Given the description of an element on the screen output the (x, y) to click on. 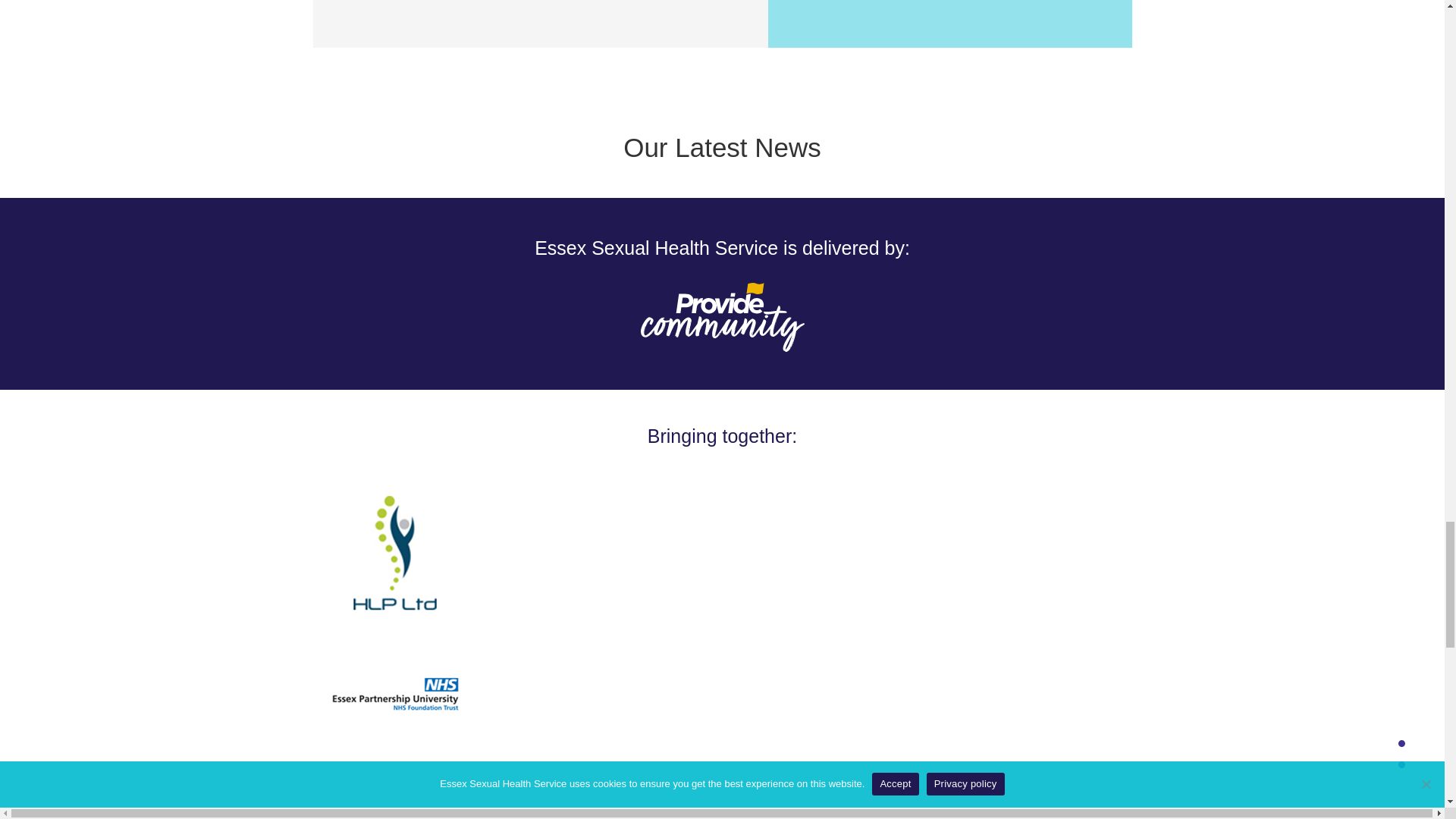
HLP logo (395, 554)
ESNEFT logo (395, 794)
EPU logo (395, 698)
